Given the description of an element on the screen output the (x, y) to click on. 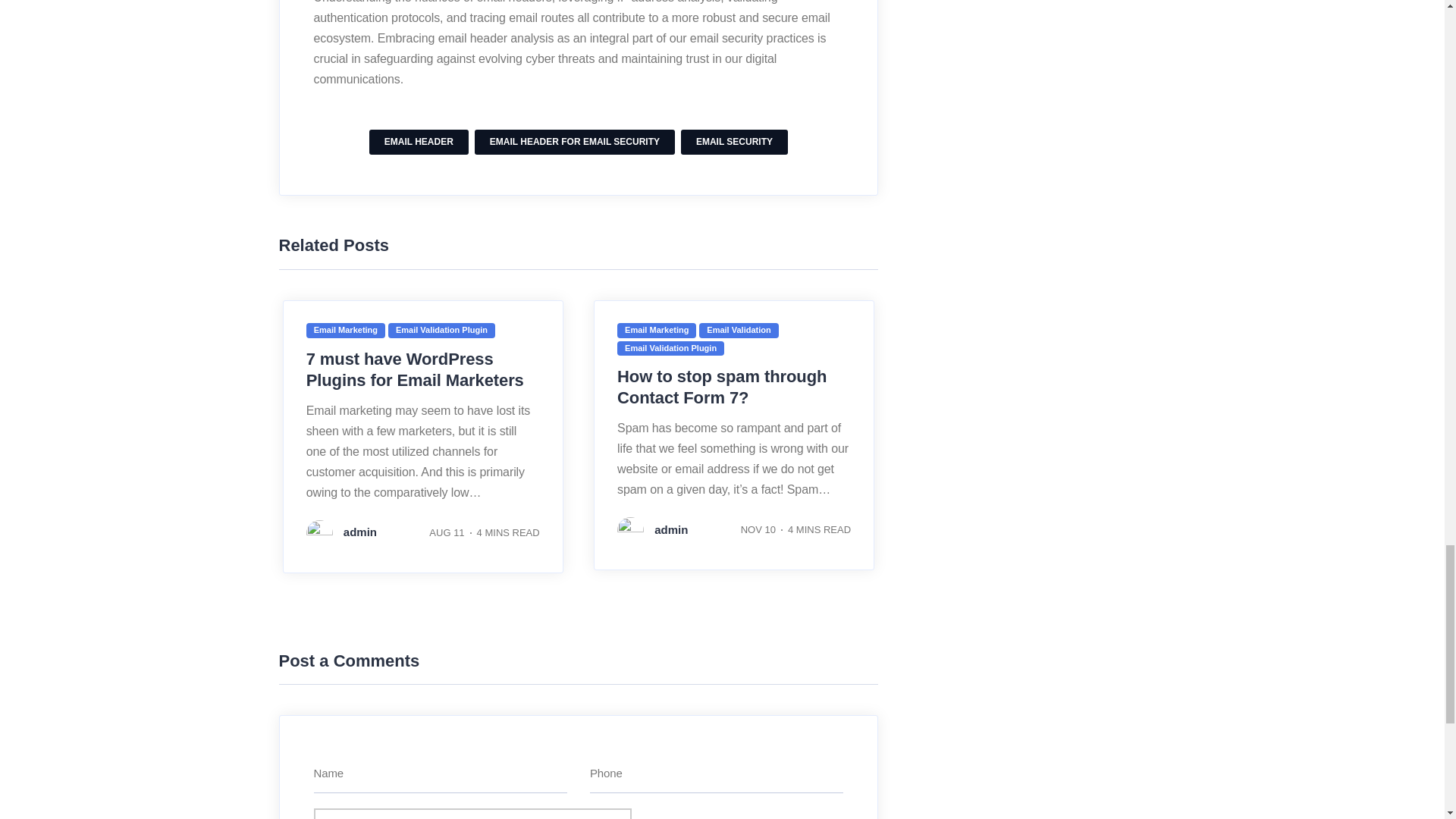
How to stop spam through Contact Form 7? (722, 386)
Email Validation (737, 328)
admin (652, 529)
EMAIL HEADER FOR EMAIL SECURITY (575, 141)
Email Marketing (345, 328)
EMAIL SECURITY (734, 141)
7 must have WordPress Plugins for Email Marketers (414, 369)
Email Marketing (656, 328)
admin (341, 531)
Email Validation Plugin (441, 328)
